Given the description of an element on the screen output the (x, y) to click on. 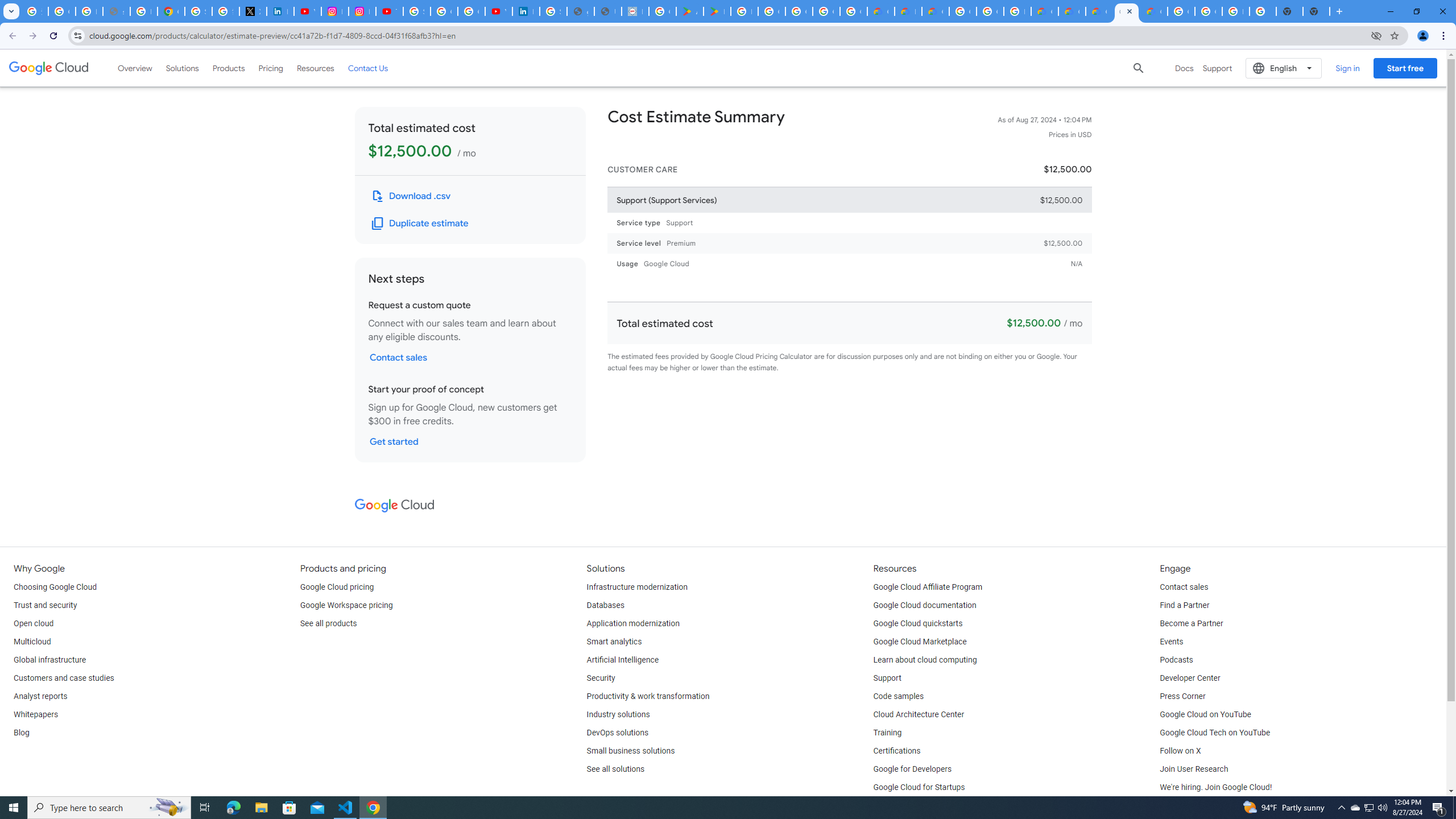
Certifications (896, 751)
Code samples (898, 696)
Get started (393, 441)
Press Corner (1181, 696)
Industry solutions (617, 714)
google_privacy_policy_en.pdf (580, 11)
Pricing (270, 67)
Trust and security (45, 605)
Google Cloud for Startups (919, 787)
